Given the description of an element on the screen output the (x, y) to click on. 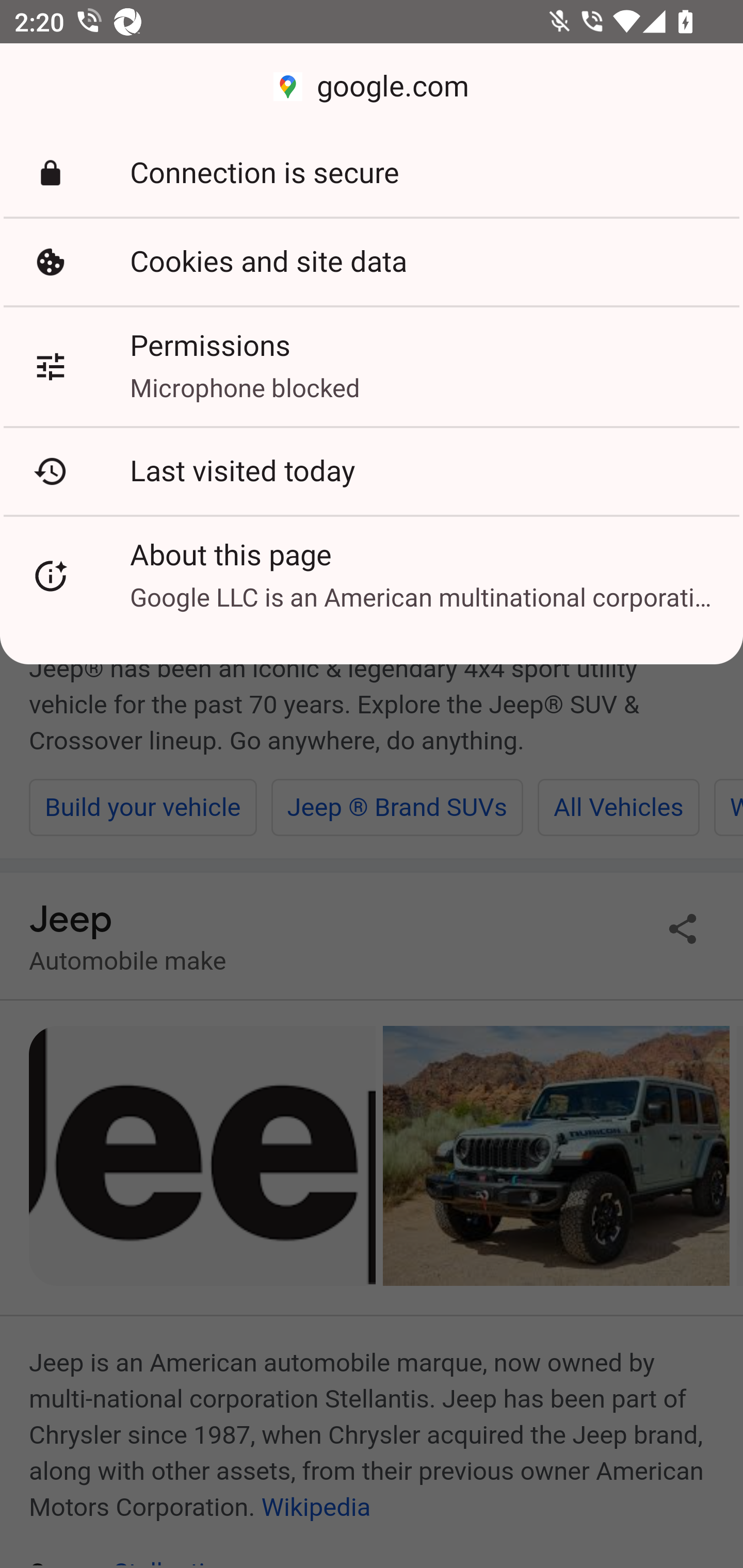
google.com (371, 86)
Connection is secure (371, 173)
Cookies and site data (371, 261)
Permissions Microphone blocked (371, 366)
Last visited today (371, 471)
